Given the description of an element on the screen output the (x, y) to click on. 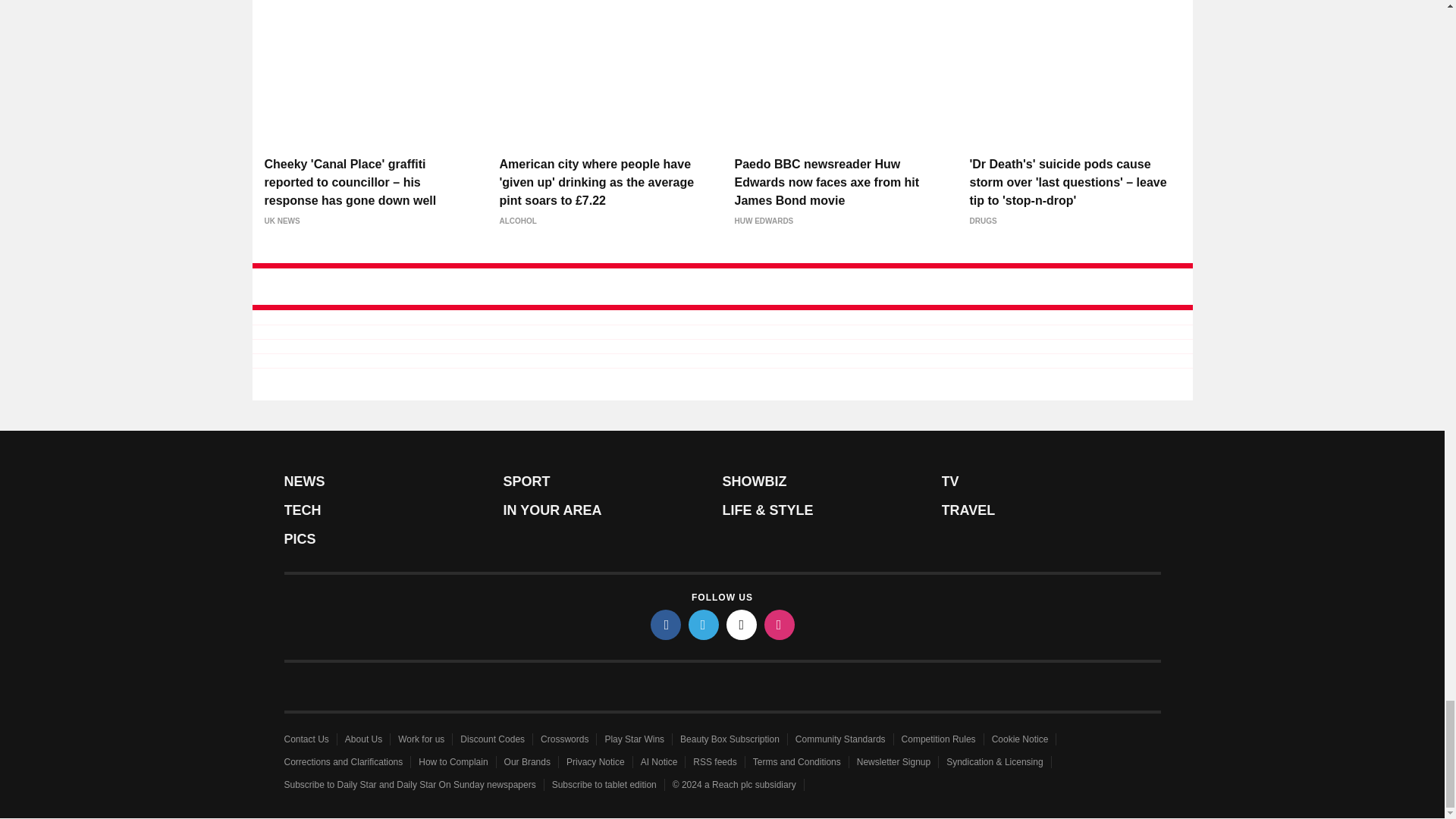
instagram (779, 624)
twitter (703, 624)
tiktok (741, 624)
facebook (665, 624)
